Given the description of an element on the screen output the (x, y) to click on. 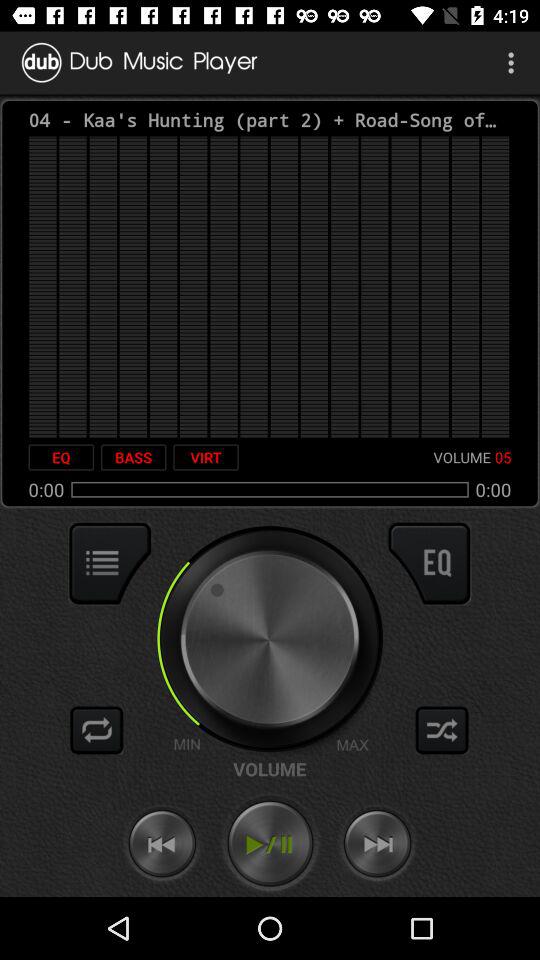
fast forward (377, 844)
